Given the description of an element on the screen output the (x, y) to click on. 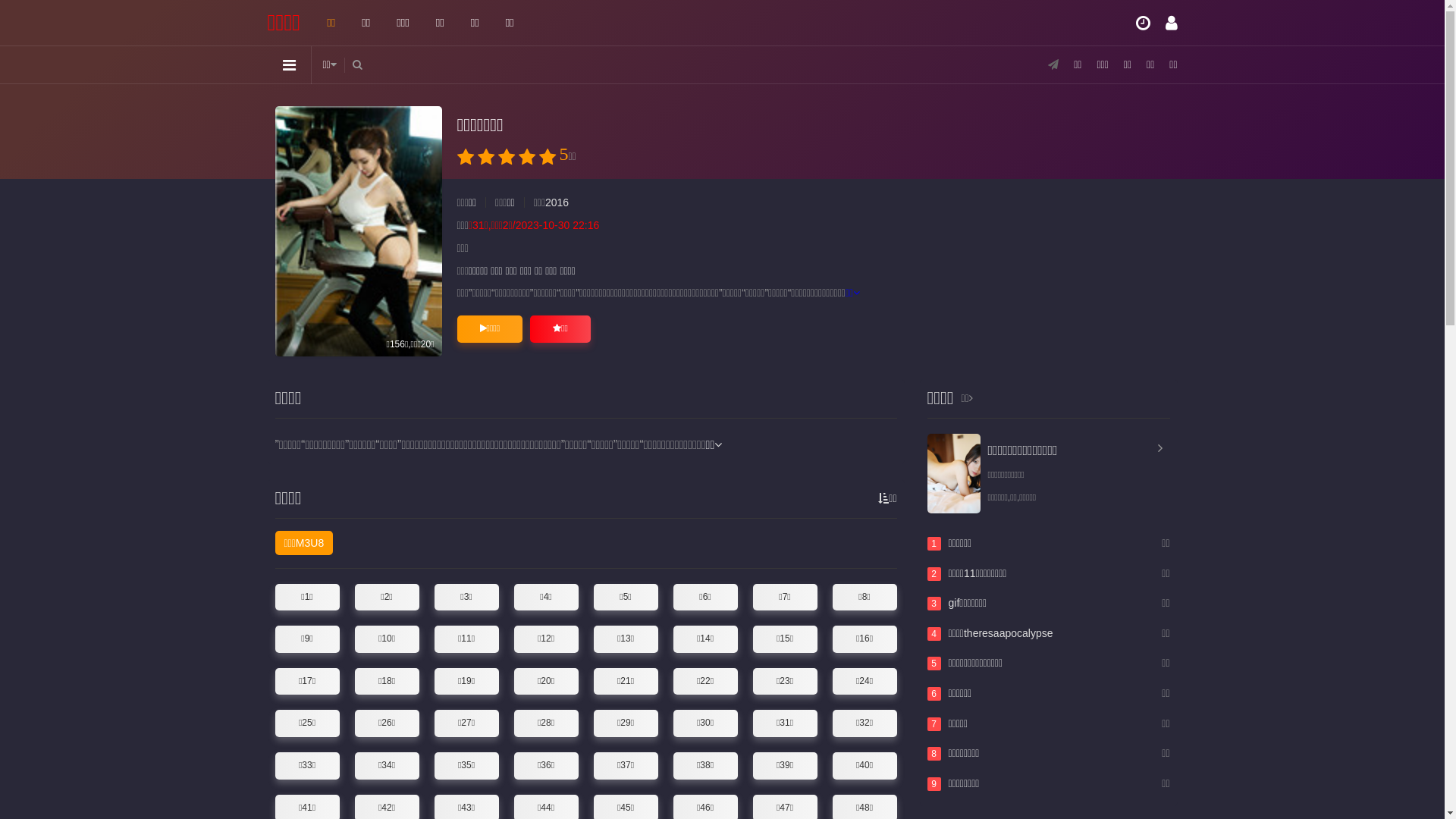
2016 Element type: text (556, 202)
